Given the description of an element on the screen output the (x, y) to click on. 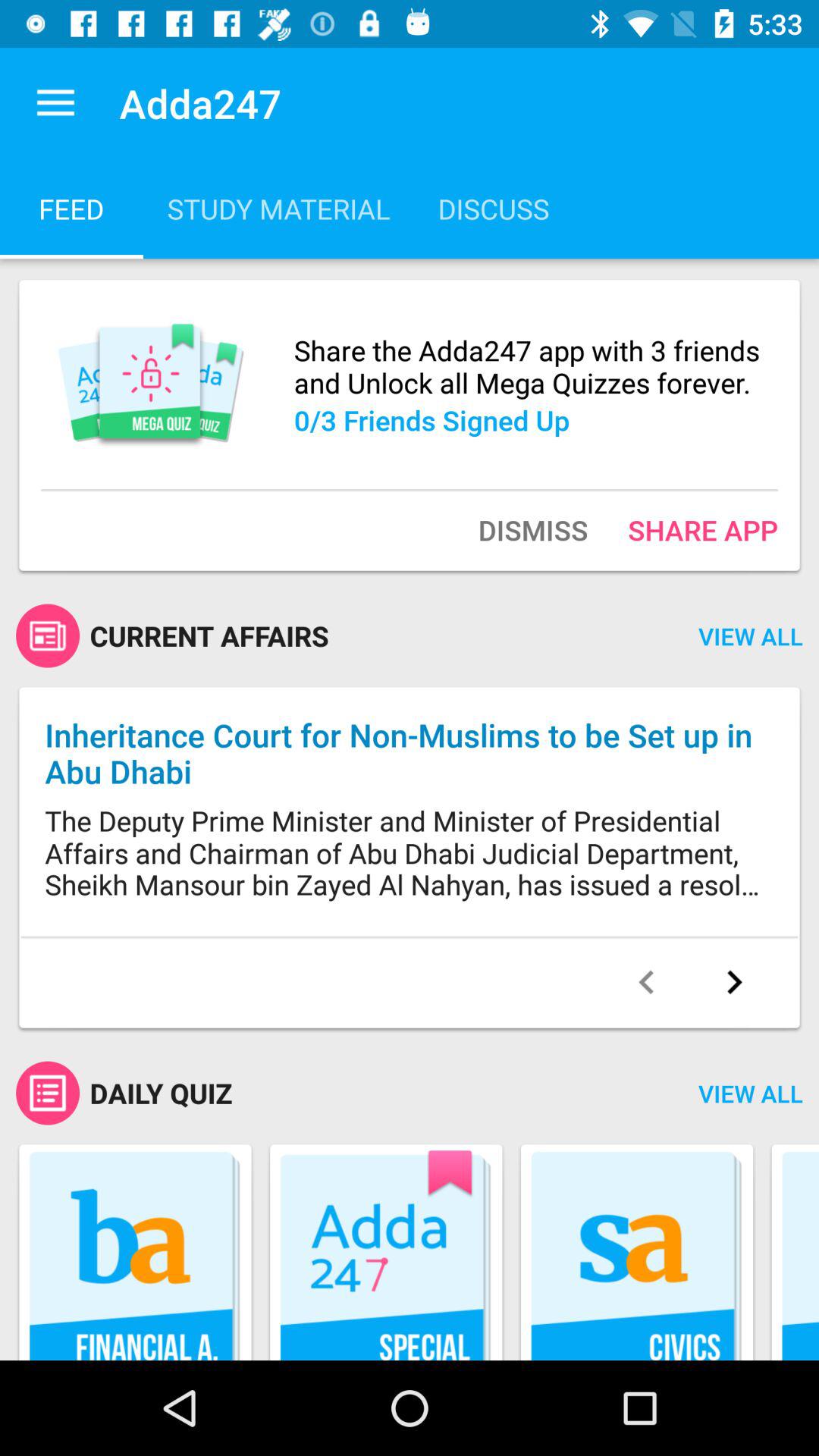
back page (646, 982)
